Given the description of an element on the screen output the (x, y) to click on. 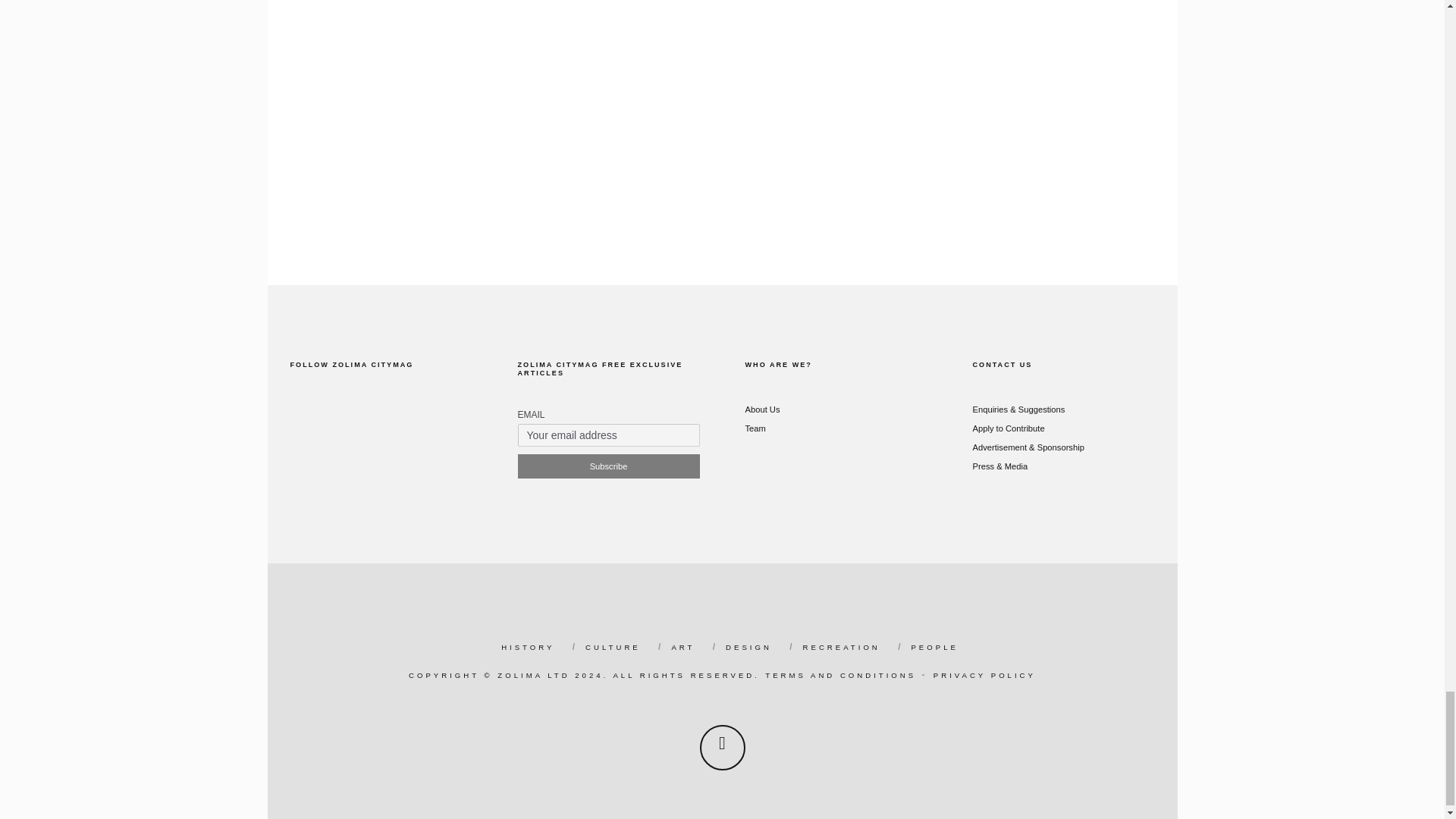
Subscribe (607, 466)
